Given the description of an element on the screen output the (x, y) to click on. 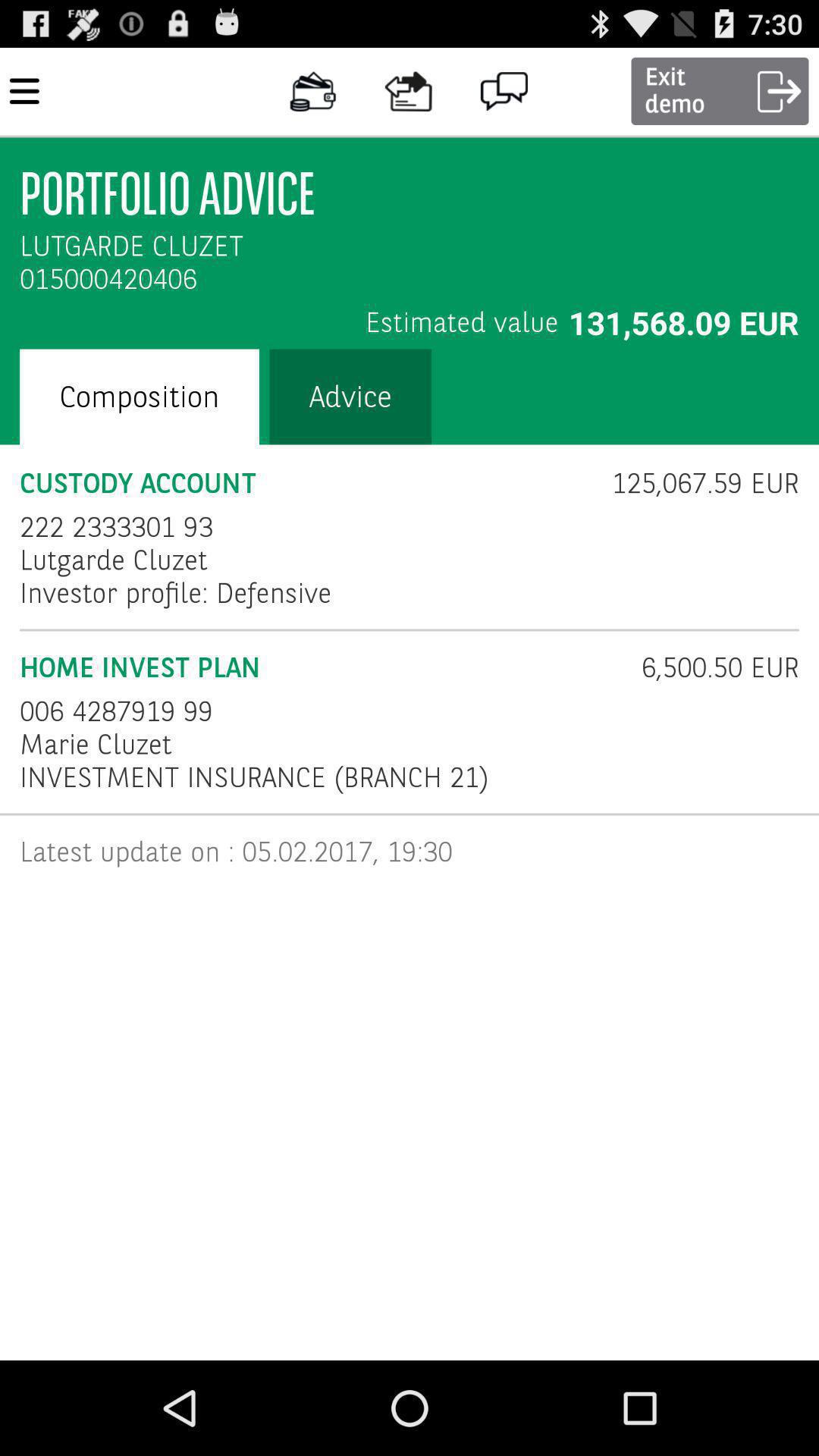
launch icon below home invest plan item (116, 711)
